Given the description of an element on the screen output the (x, y) to click on. 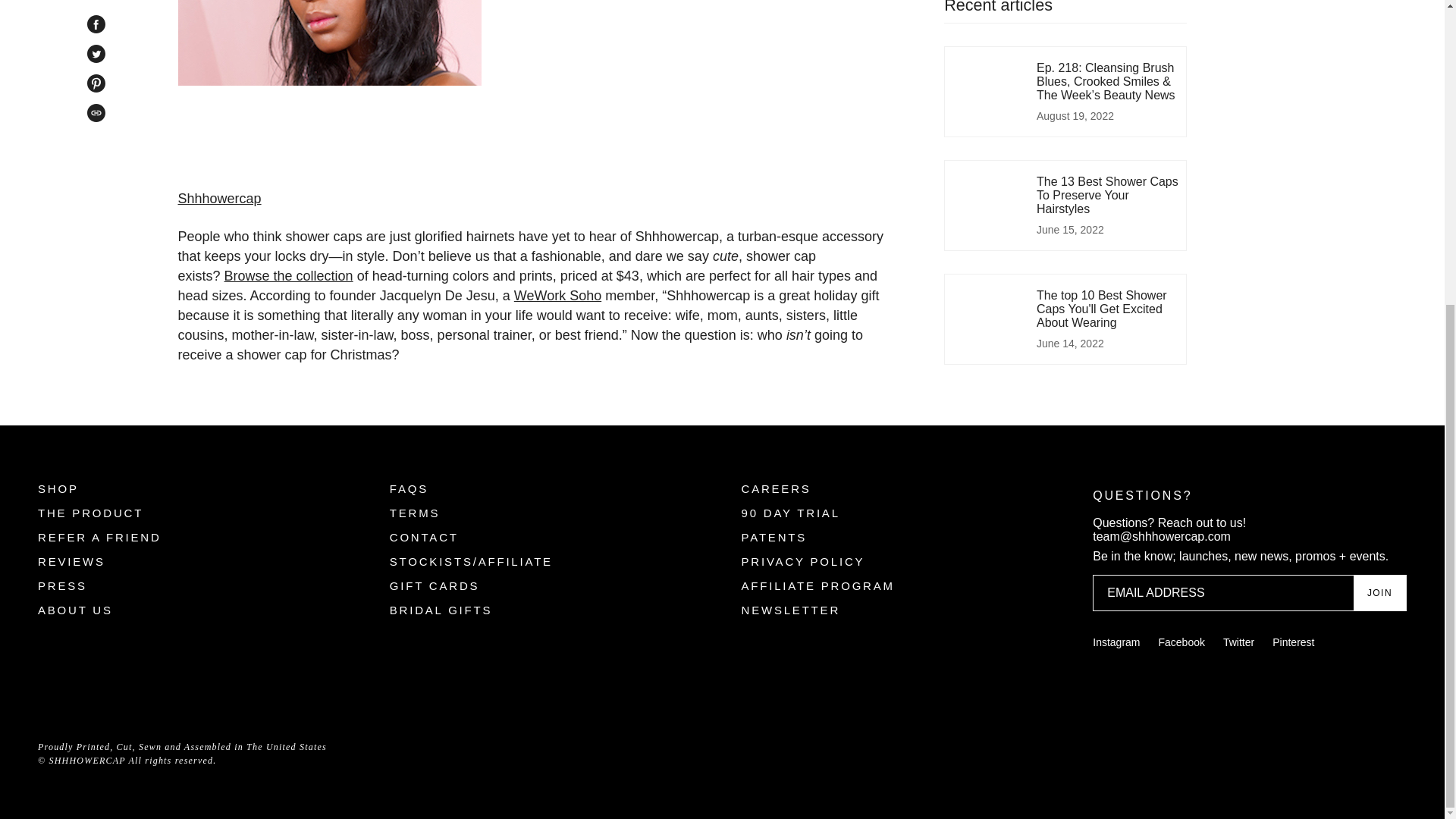
SHOP (57, 488)
THE PRODUCT (89, 512)
Shhhowercap (218, 198)
Browse the collection (288, 275)
WeWork Soho (557, 295)
